Given the description of an element on the screen output the (x, y) to click on. 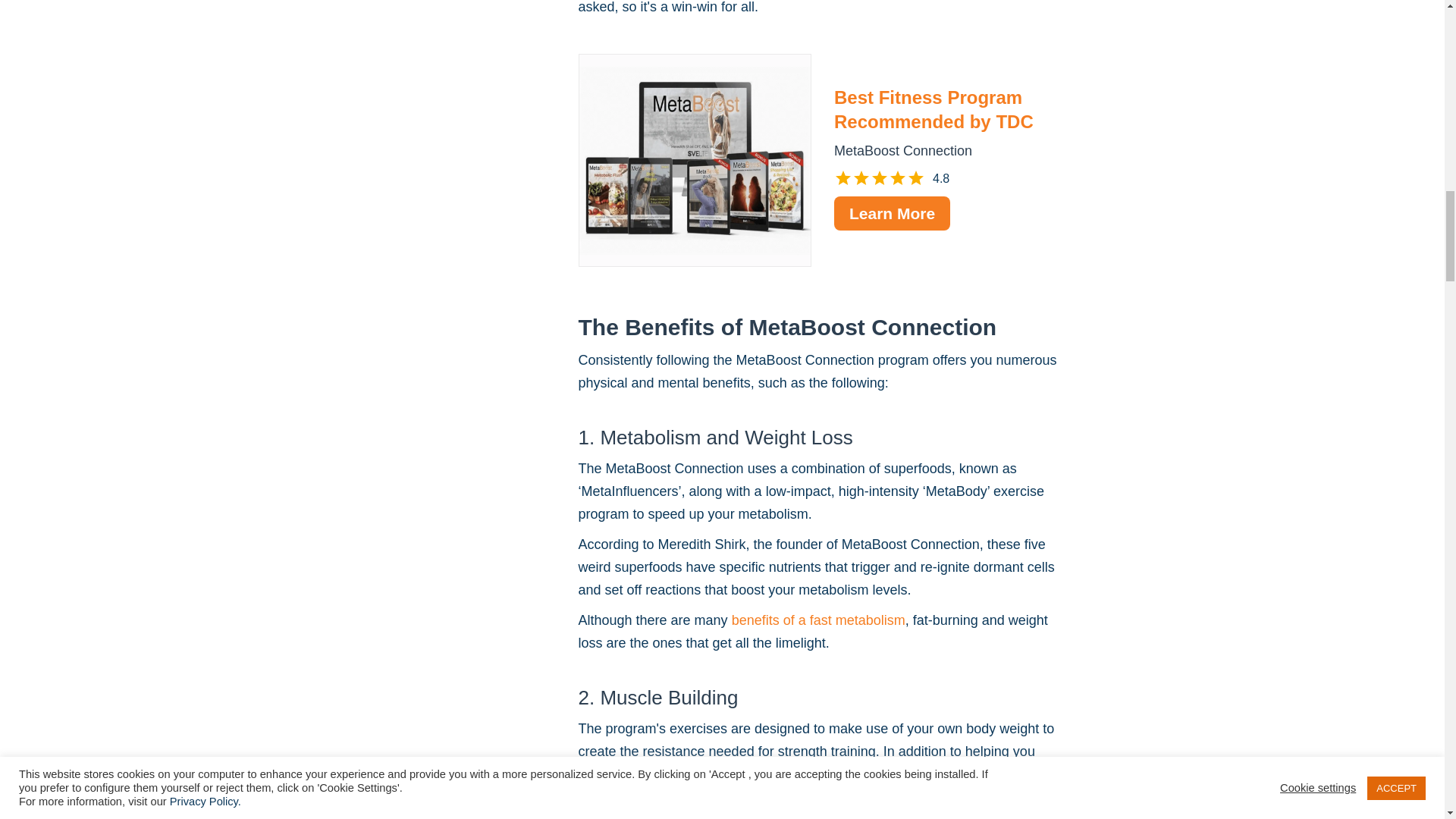
MetaBoost Connection Trim Down Club (694, 160)
